Given the description of an element on the screen output the (x, y) to click on. 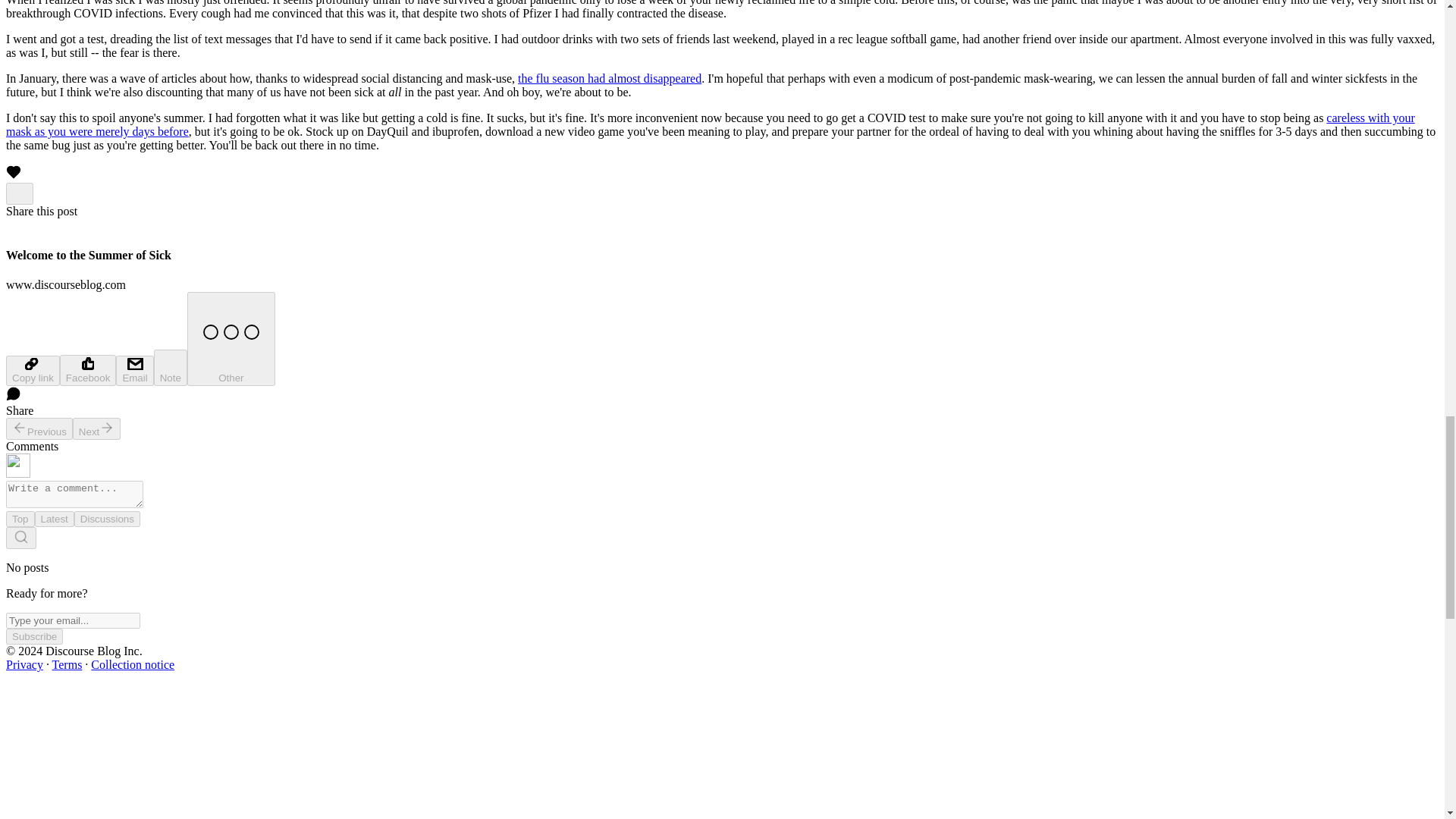
the flu season had almost disappeared (609, 78)
Facebook (87, 369)
Latest (54, 519)
Previous (38, 428)
Other (231, 338)
Copy link (32, 370)
Email (134, 370)
Top (19, 519)
careless with your mask as you were merely days before (710, 124)
Note (170, 367)
